Given the description of an element on the screen output the (x, y) to click on. 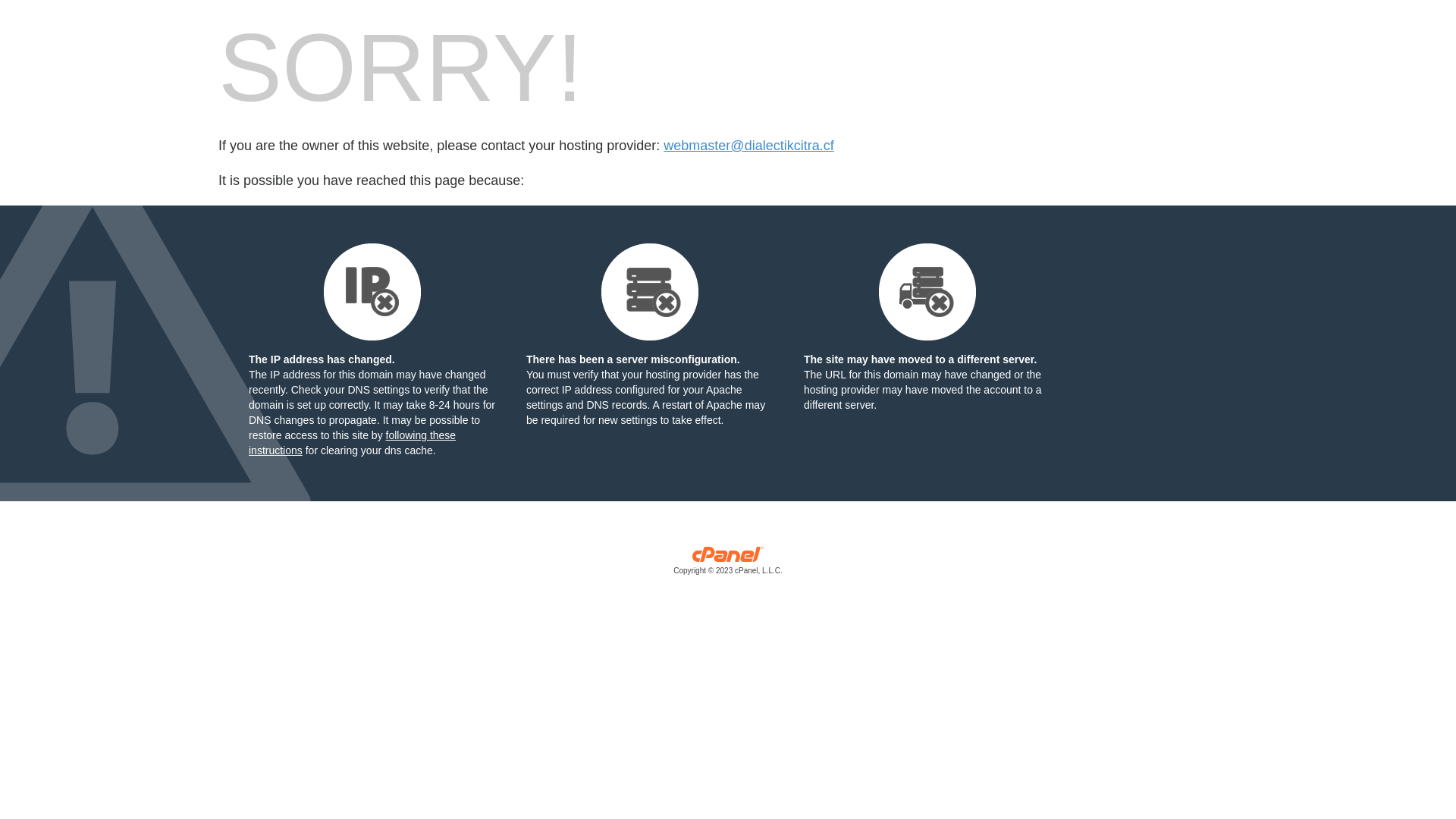
following these instructions Element type: text (351, 442)
webmaster@dialectikcitra.cf Element type: text (748, 145)
